Given the description of an element on the screen output the (x, y) to click on. 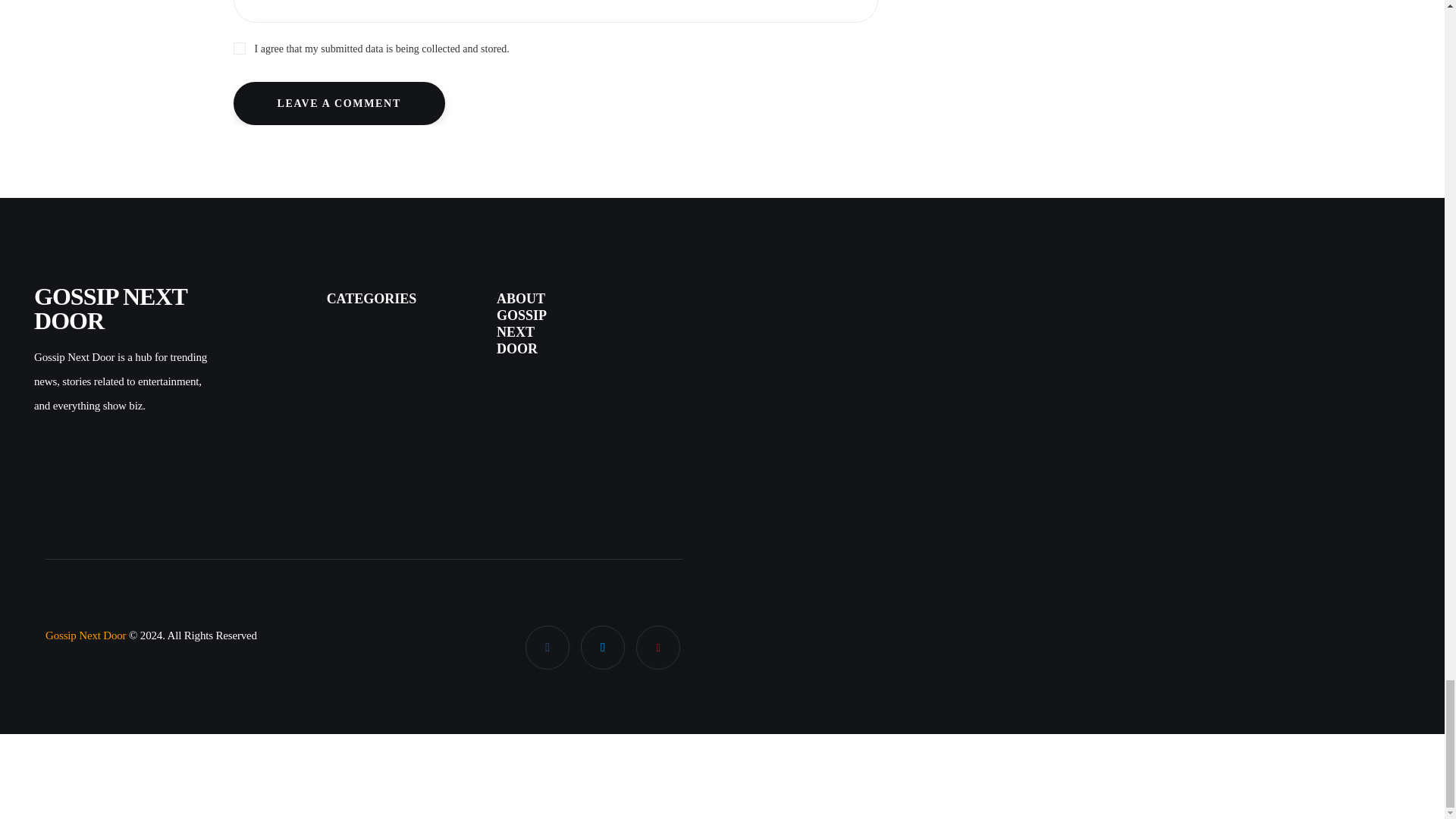
1 (554, 46)
